Given the description of an element on the screen output the (x, y) to click on. 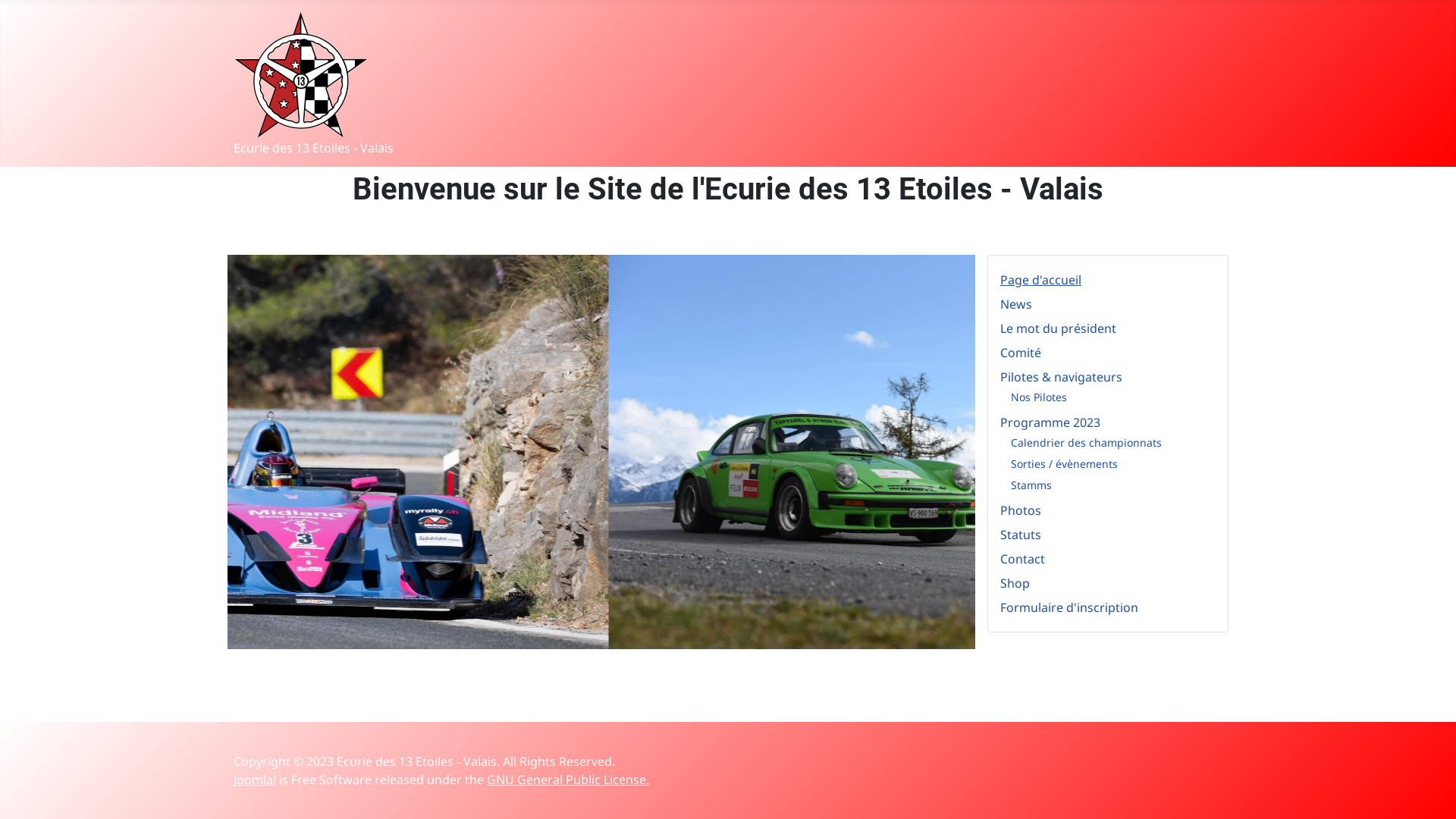
Joomla! Element type: text (254, 779)
GNU General Public License. Element type: text (567, 779)
Contact Element type: text (1022, 558)
Calendrier des championnats Element type: text (1085, 442)
Shop Element type: text (1014, 582)
Photos Element type: text (1020, 510)
Programme 2023 Element type: text (1050, 422)
Statuts Element type: text (1020, 534)
Nos Pilotes Element type: text (1038, 396)
Pilotes & navigateurs Element type: text (1061, 376)
Stamms Element type: text (1030, 484)
Formulaire d'inscription Element type: text (1069, 607)
Page d'accueil Element type: text (1040, 279)
News Element type: text (1016, 303)
